Given the description of an element on the screen output the (x, y) to click on. 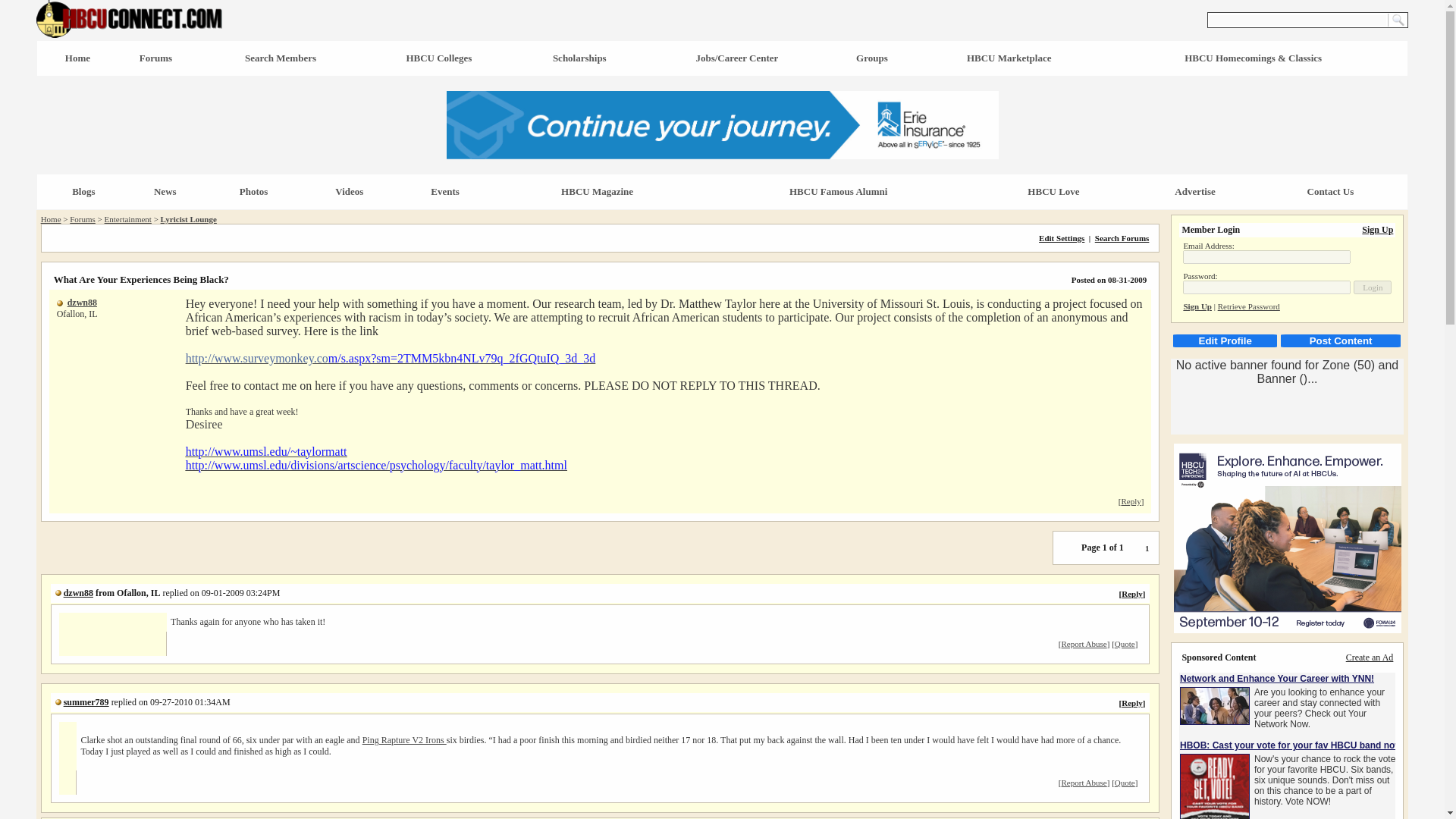
News (165, 191)
Contact Us (1330, 191)
Advertise (1194, 191)
Login (1372, 287)
Search Forums (1122, 237)
Home (77, 57)
Scholarships (580, 57)
HBCU Love (1052, 191)
Blogs (82, 191)
Home (50, 218)
Forums (155, 57)
This member is offline... (58, 592)
Reply (1130, 501)
summer789 (86, 701)
Edit Settings (1061, 237)
